Given the description of an element on the screen output the (x, y) to click on. 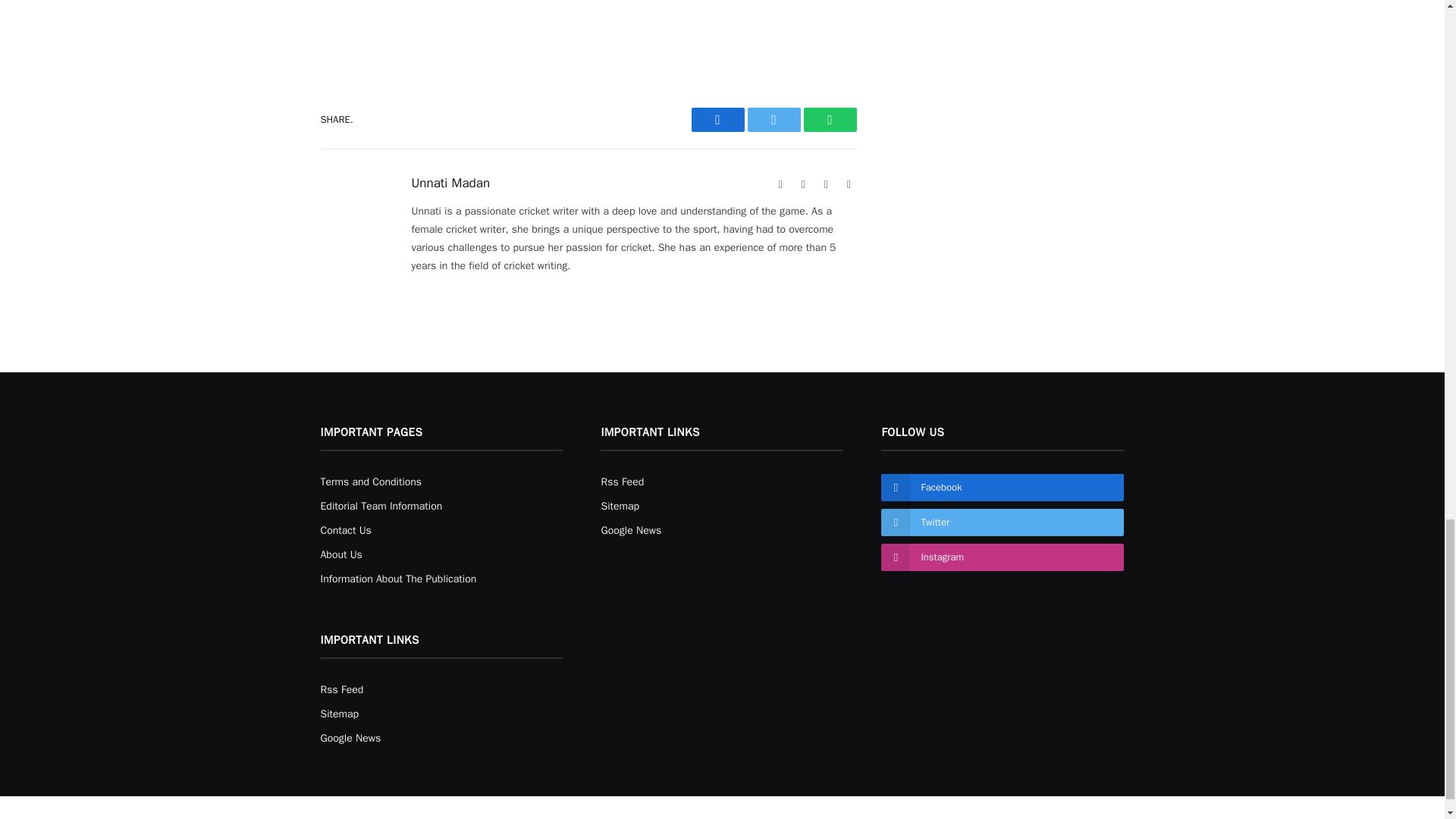
Share on WhatsApp (830, 119)
Posts by Unnati Madan (449, 183)
Twitter (774, 119)
Facebook (717, 119)
Share on Facebook (717, 119)
WhatsApp (830, 119)
